Given the description of an element on the screen output the (x, y) to click on. 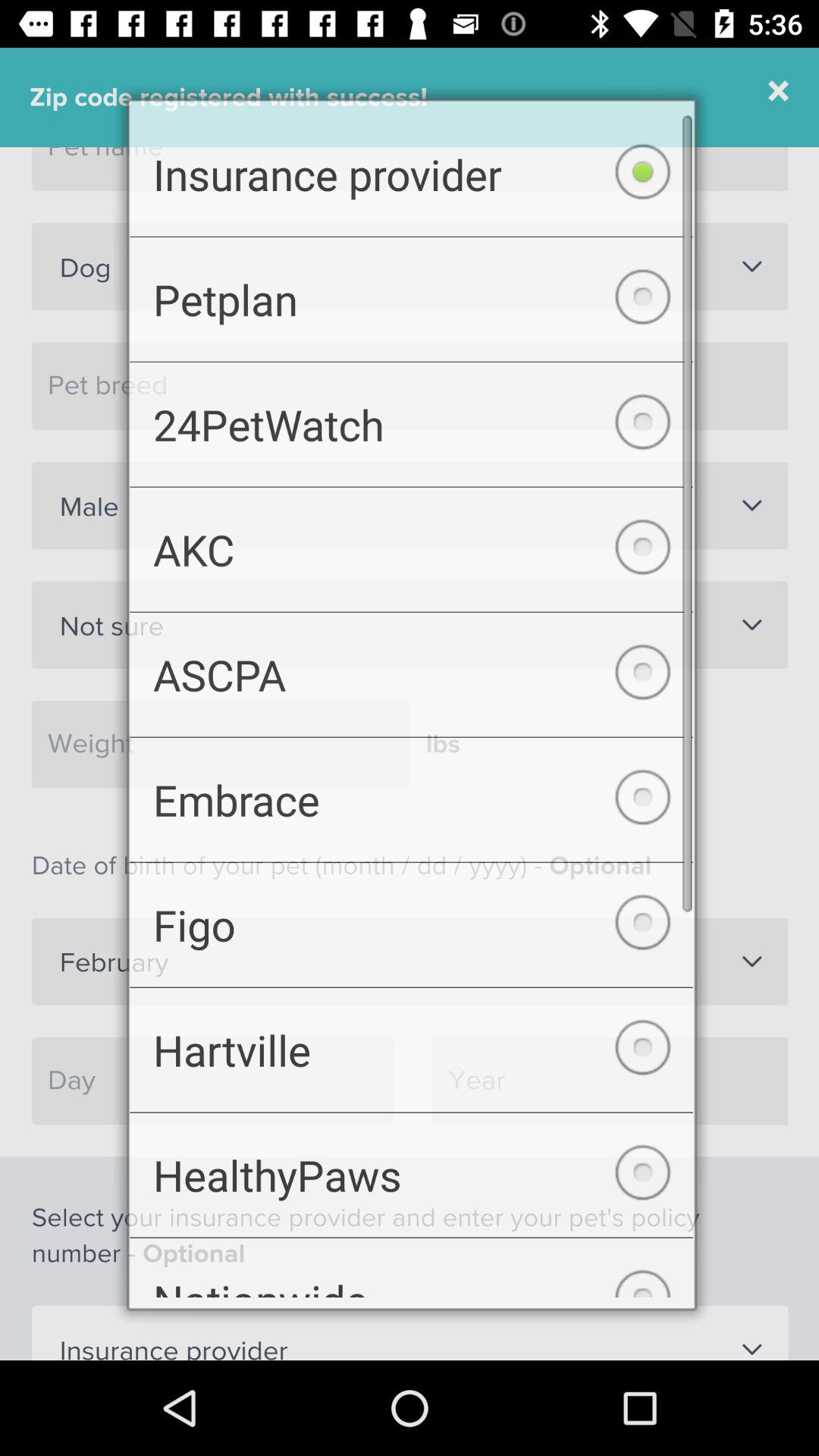
launch nationwide item (411, 1282)
